Given the description of an element on the screen output the (x, y) to click on. 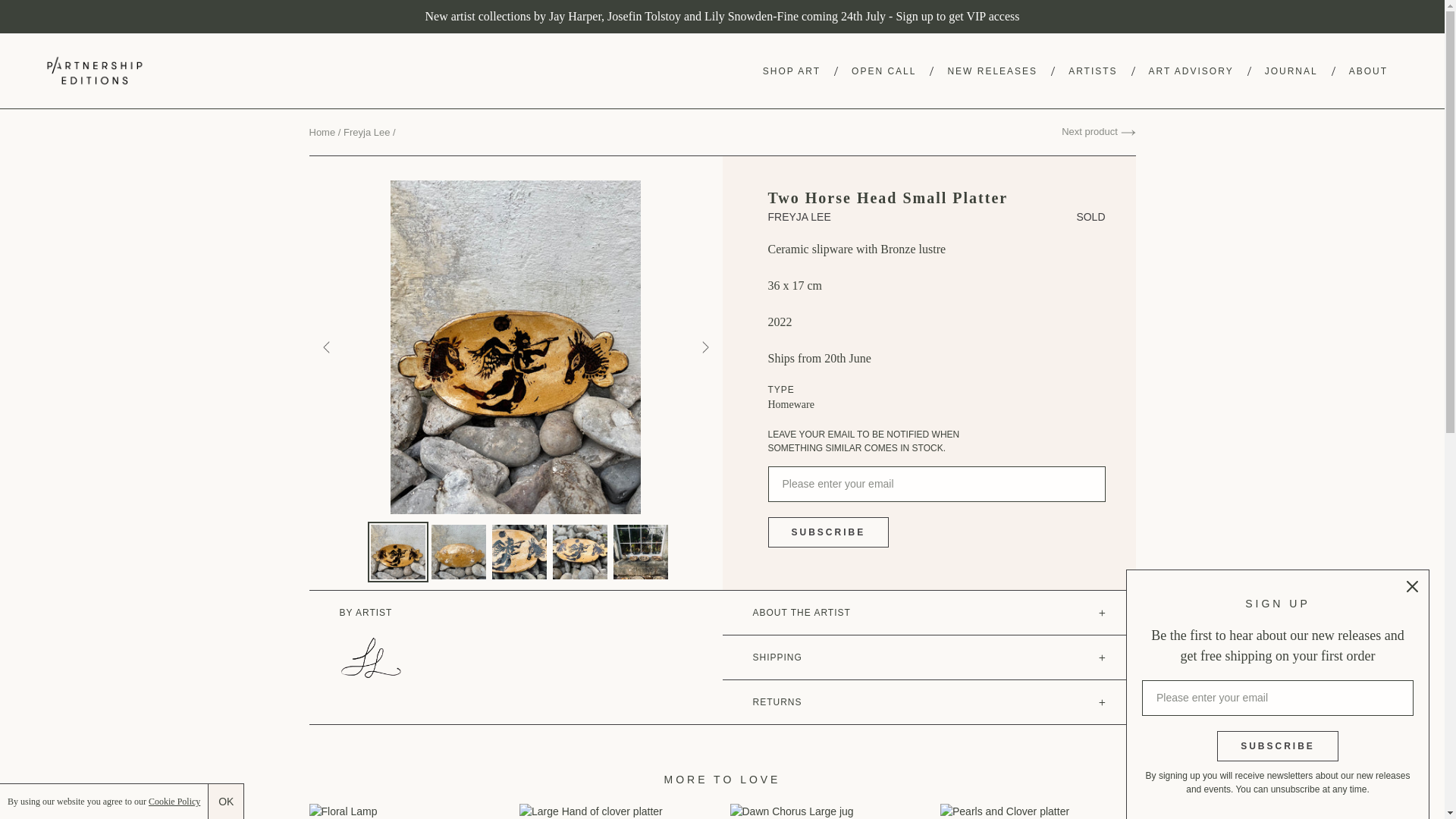
Cookie Policy (174, 801)
SHOP ART (791, 70)
OPEN CALL (883, 70)
OK (225, 801)
Subscribe (827, 531)
Home (322, 132)
NEW RELEASES (991, 70)
Subscribe (1277, 746)
